Given the description of an element on the screen output the (x, y) to click on. 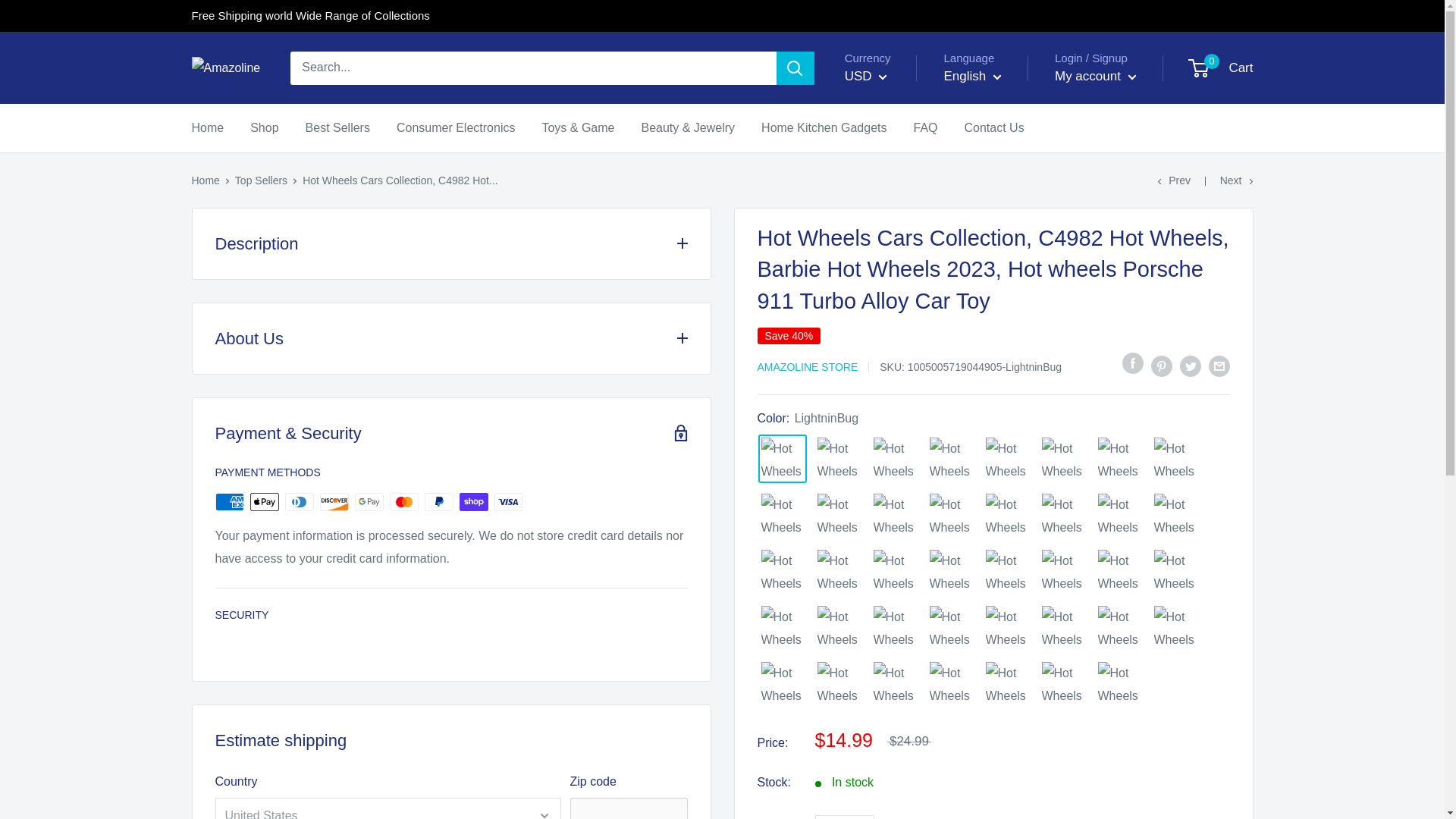
ChryslerPacifica (838, 514)
ToonD83ChevyS (838, 458)
CAD (877, 117)
55ChevyBelAirG (950, 514)
CeleroGT (782, 514)
NissanMaximaDrift (1006, 458)
ModSpeeder (838, 571)
69ShelbyGT500 (782, 571)
72StingrayConverti (1063, 458)
RollinSolo (950, 458)
